Given the description of an element on the screen output the (x, y) to click on. 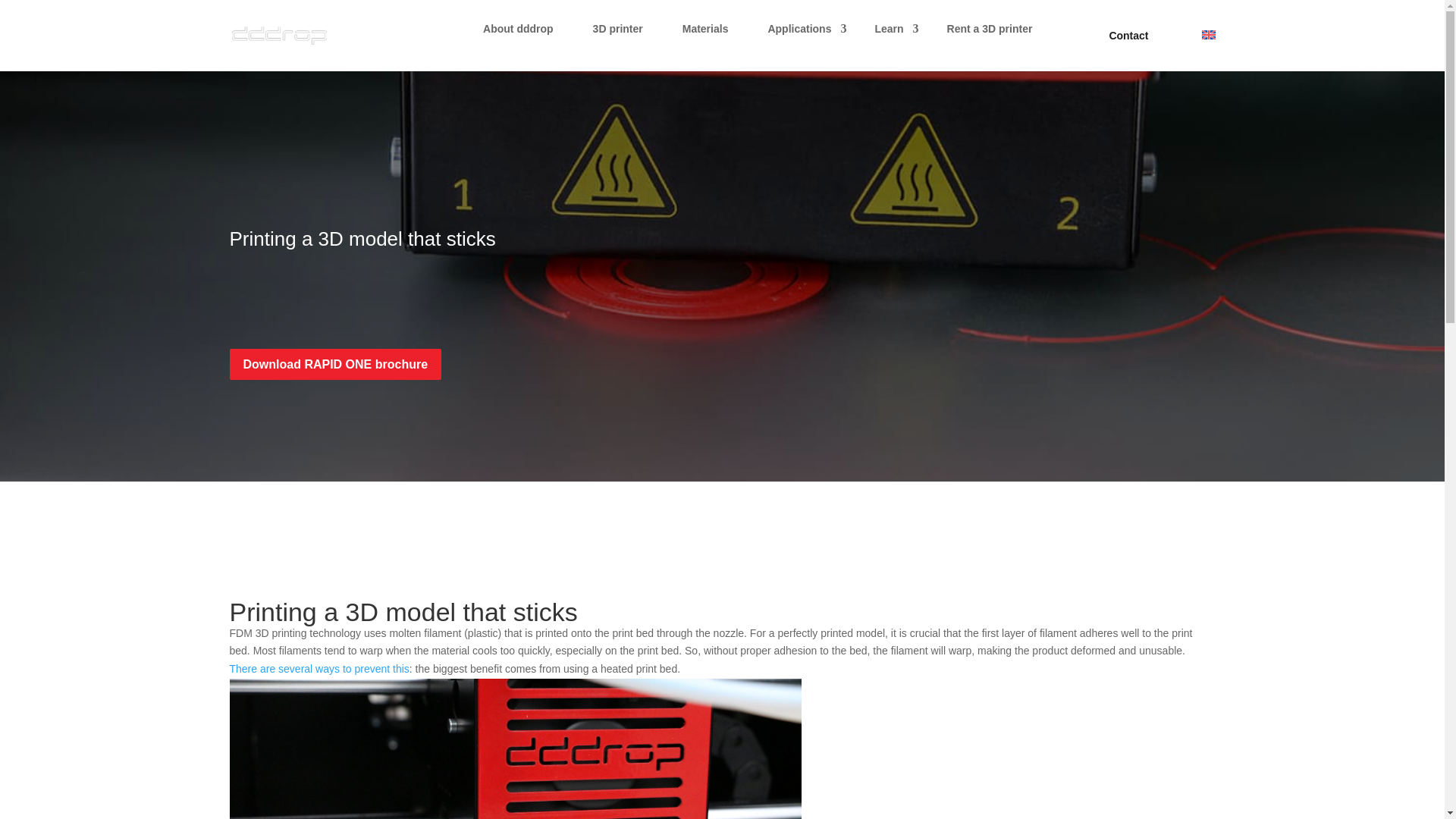
Learn (890, 35)
3D printer (616, 35)
Contact (1128, 35)
Rent a 3D printer (989, 35)
Download RAPID ONE brochure (334, 364)
There are several ways to prevent this (318, 668)
About dddrop (517, 35)
Materials (705, 35)
Applications (800, 35)
